Given the description of an element on the screen output the (x, y) to click on. 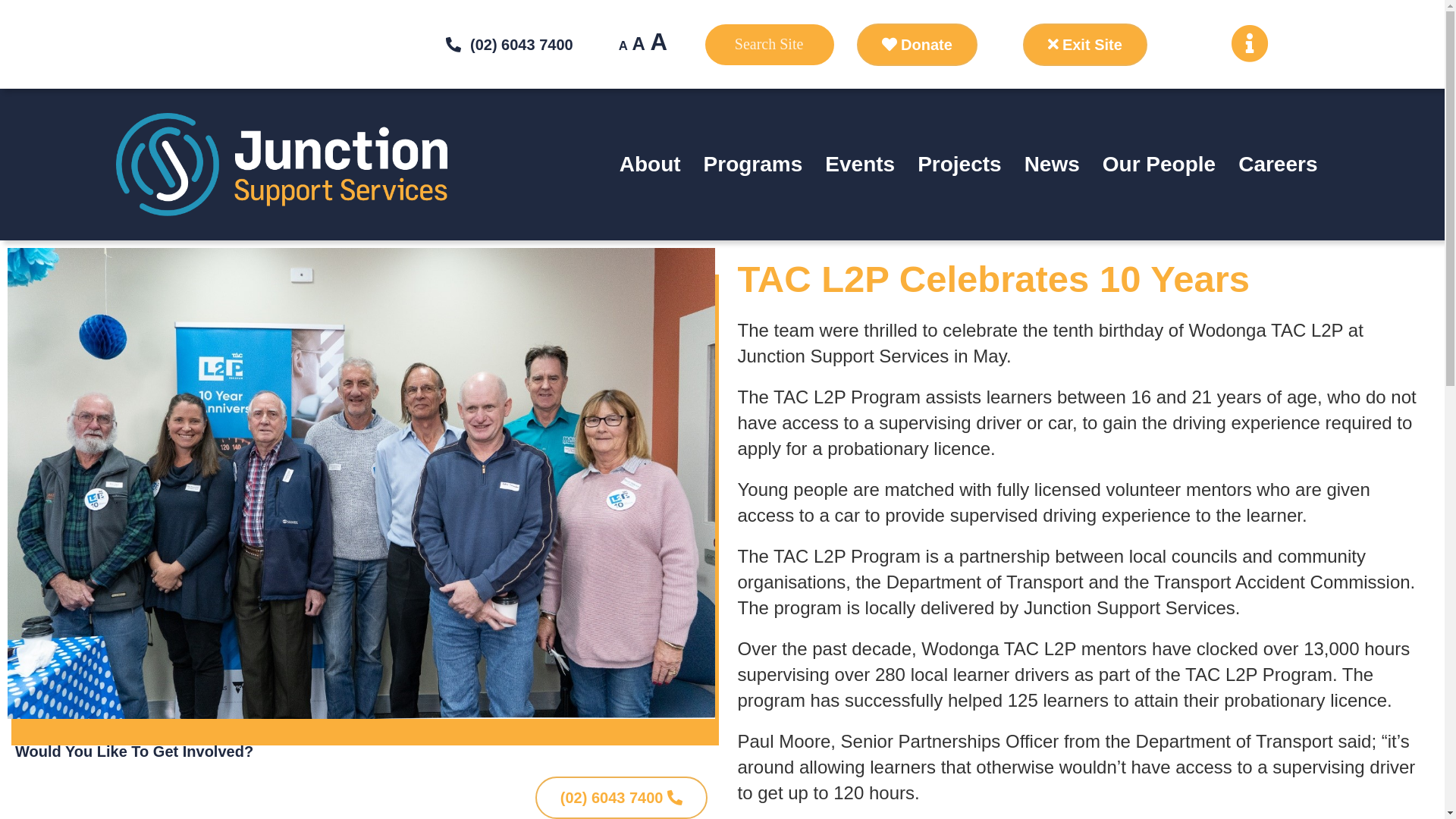
A Element type: text (622, 45)
Our People Element type: text (1158, 164)
Projects Element type: text (959, 164)
Careers Element type: text (1277, 164)
A Element type: text (638, 43)
Donate Element type: text (916, 43)
Events Element type: text (859, 164)
A Element type: text (659, 41)
News Element type: text (1051, 164)
About Element type: text (649, 164)
Exit Site Element type: text (1084, 43)
(02) 6043 7400 Element type: text (507, 44)
Programs Element type: text (753, 164)
